Given the description of an element on the screen output the (x, y) to click on. 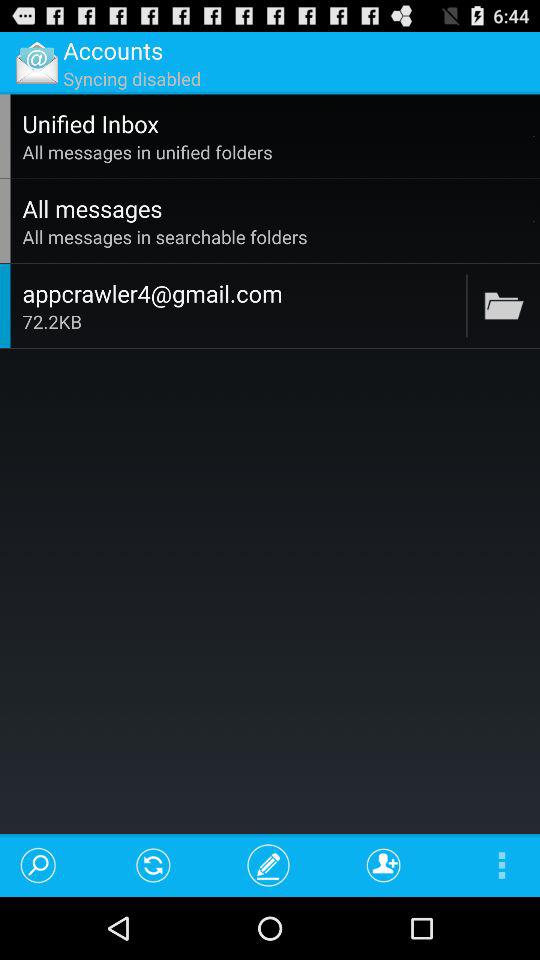
select the app below the 72.2kb app (153, 864)
